Given the description of an element on the screen output the (x, y) to click on. 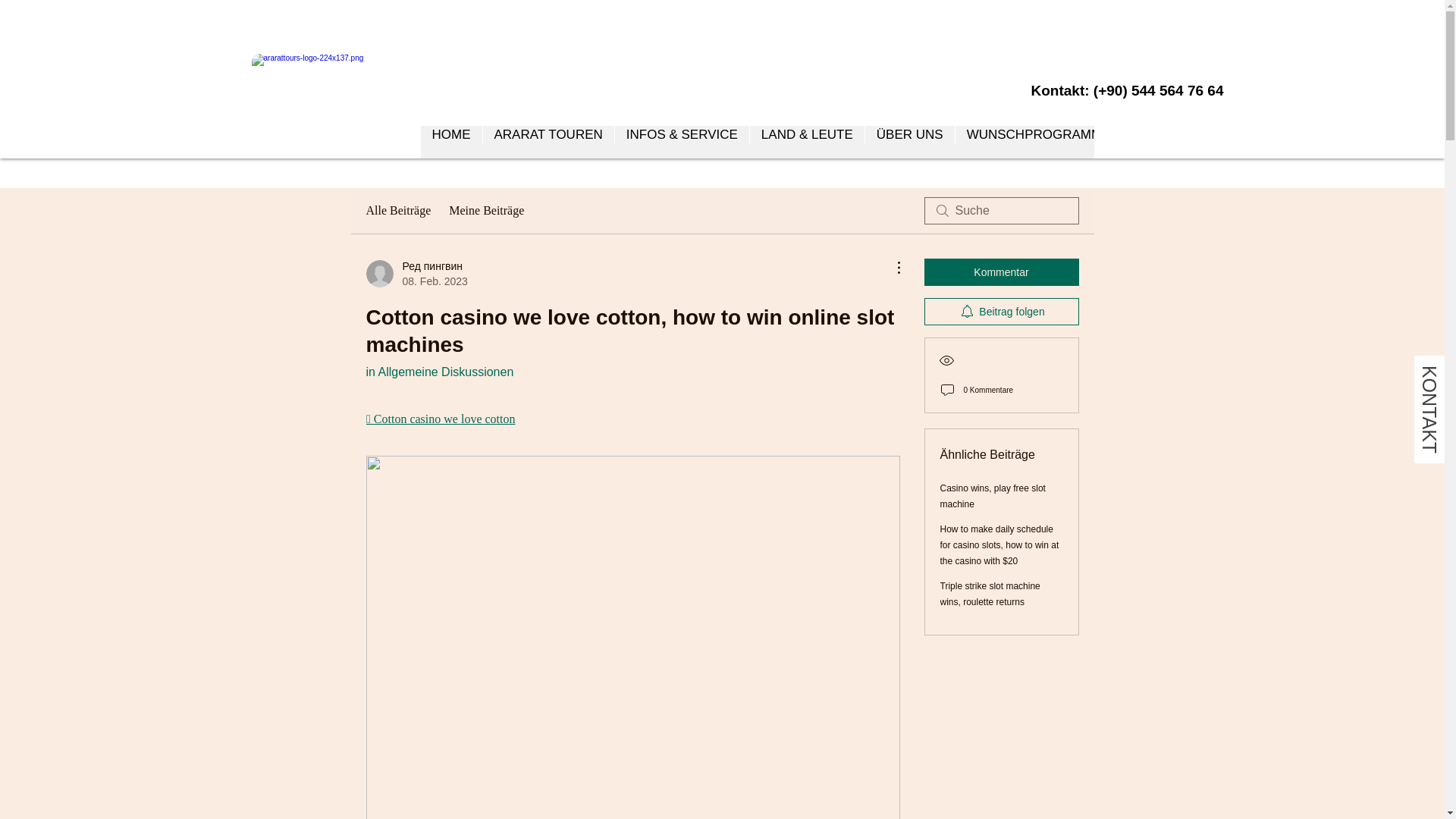
HOME (450, 142)
WUNSCHPROGRAMM (1034, 142)
in Allgemeine Diskussionen (439, 371)
